Given the description of an element on the screen output the (x, y) to click on. 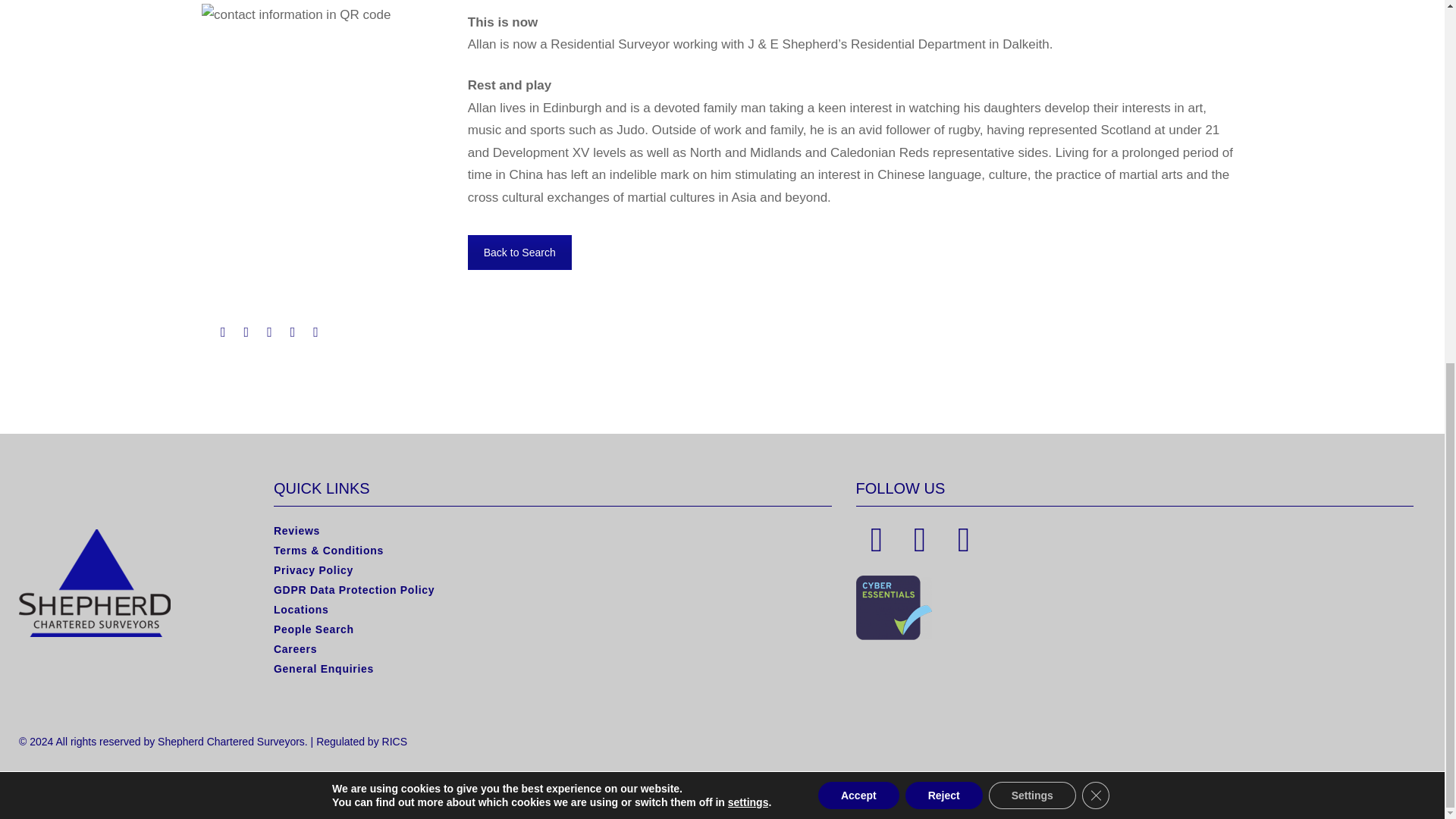
contact information in QR code (296, 14)
